Given the description of an element on the screen output the (x, y) to click on. 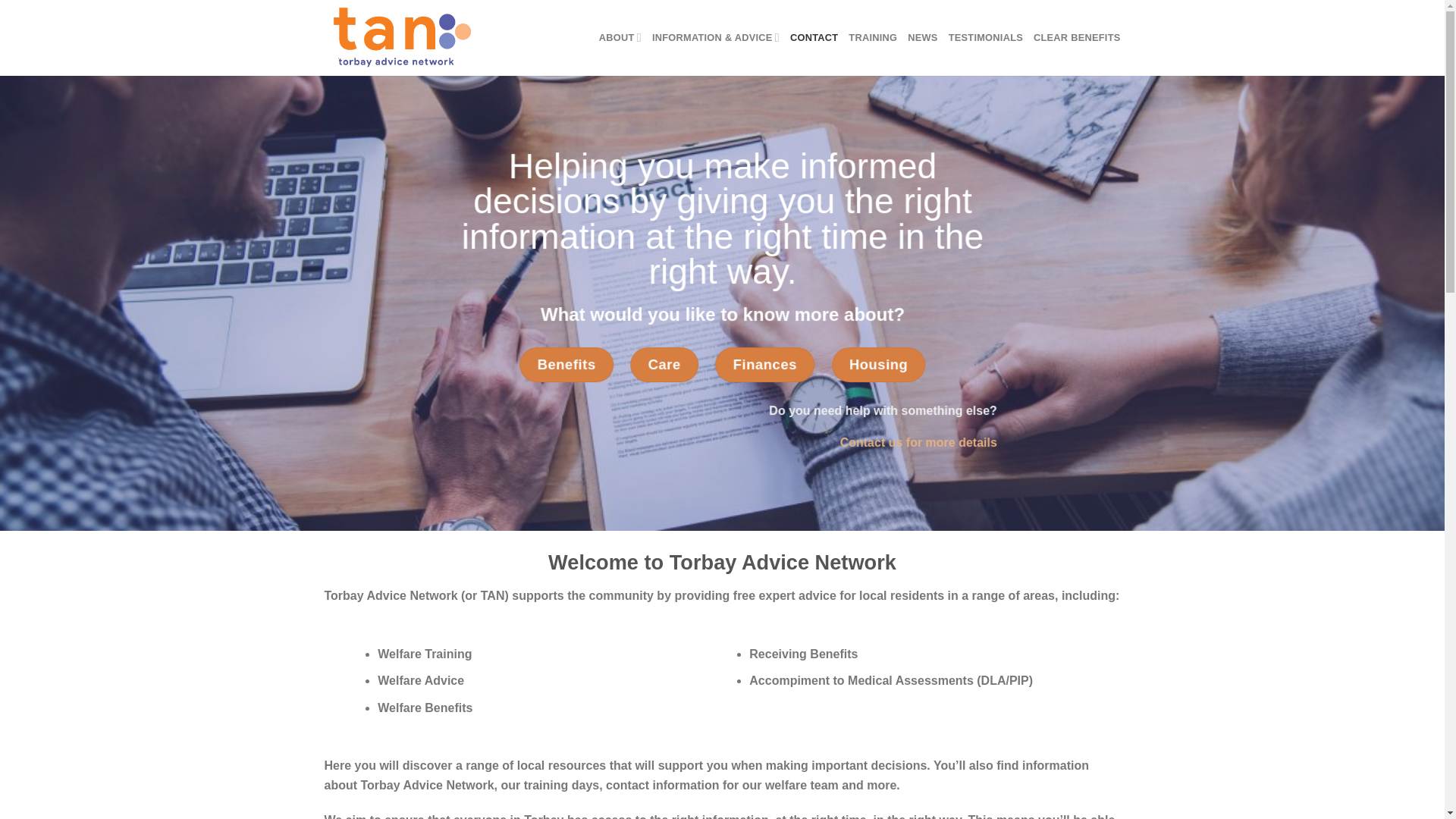
Benefits (565, 364)
Contact us for more details (917, 441)
TESTIMONIALS (986, 37)
Care (663, 364)
Housing (877, 364)
Torbay Advice Network - Torbay Advice Network (400, 37)
CLEAR BENEFITS (1077, 37)
CONTACT (814, 37)
Finances (763, 364)
ABOUT (620, 37)
